Given the description of an element on the screen output the (x, y) to click on. 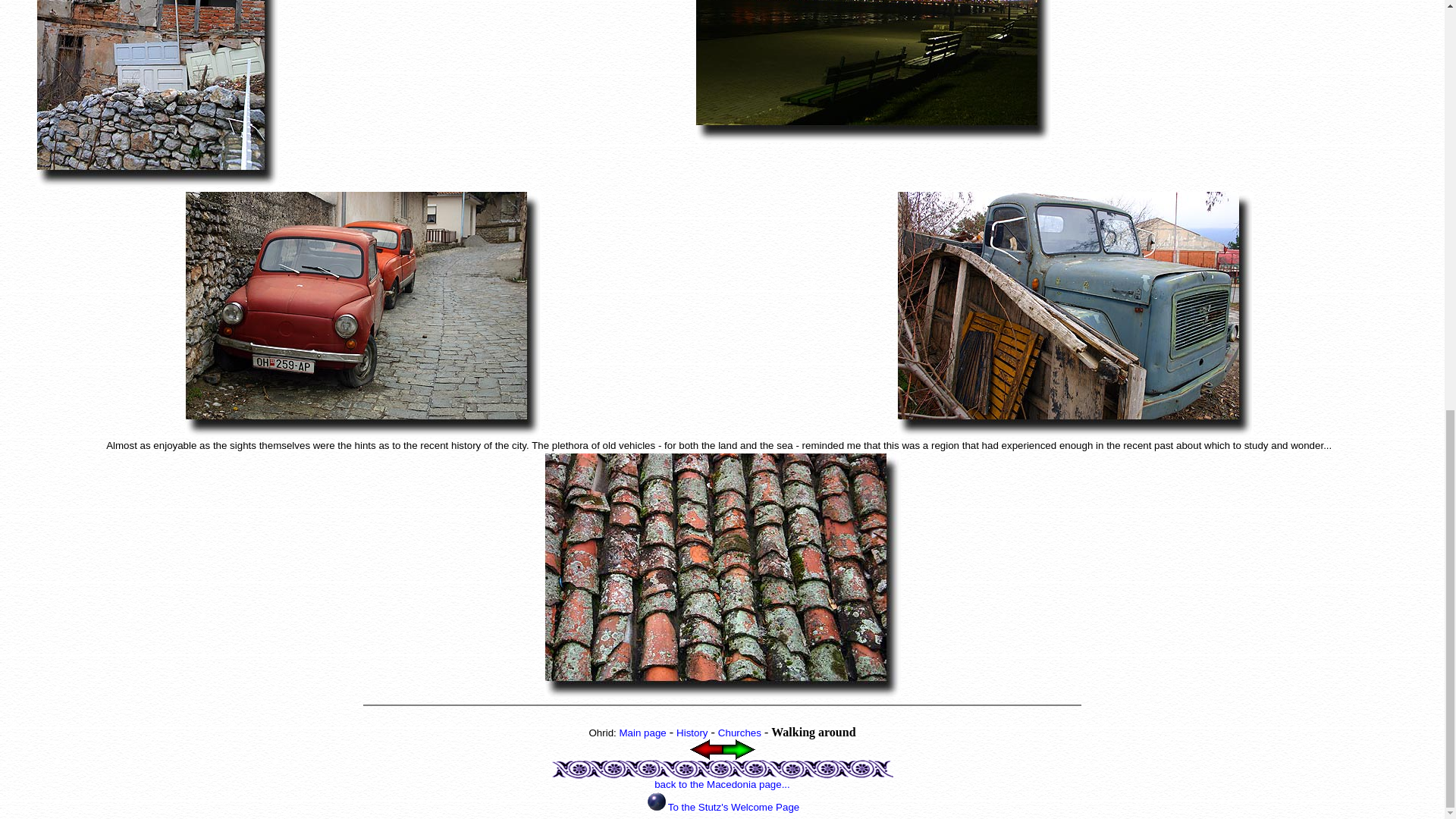
Main page (641, 732)
To the Stutz's Welcome Page (733, 807)
Churches (739, 732)
History (692, 732)
back to the Macedonia page... (721, 784)
